Given the description of an element on the screen output the (x, y) to click on. 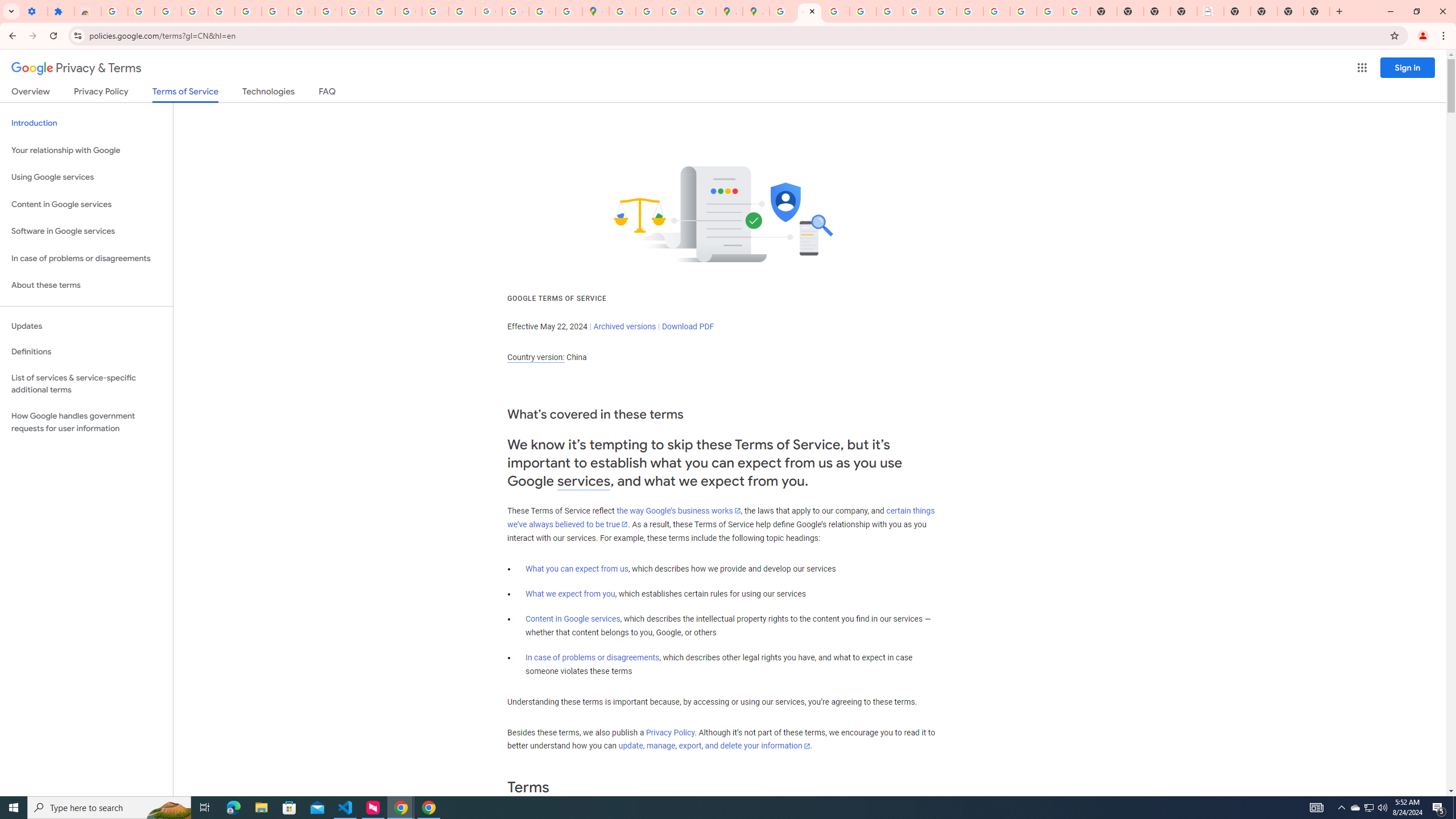
In case of problems or disagreements (592, 657)
Download PDF (687, 326)
New Tab (1316, 11)
What you can expect from us (576, 568)
update, manage, export, and delete your information (714, 746)
Safety in Our Products - Google Safety Center (702, 11)
Privacy Help Center - Policies Help (862, 11)
New Tab (1290, 11)
Reviews: Helix Fruit Jump Arcade Game (87, 11)
